Given the description of an element on the screen output the (x, y) to click on. 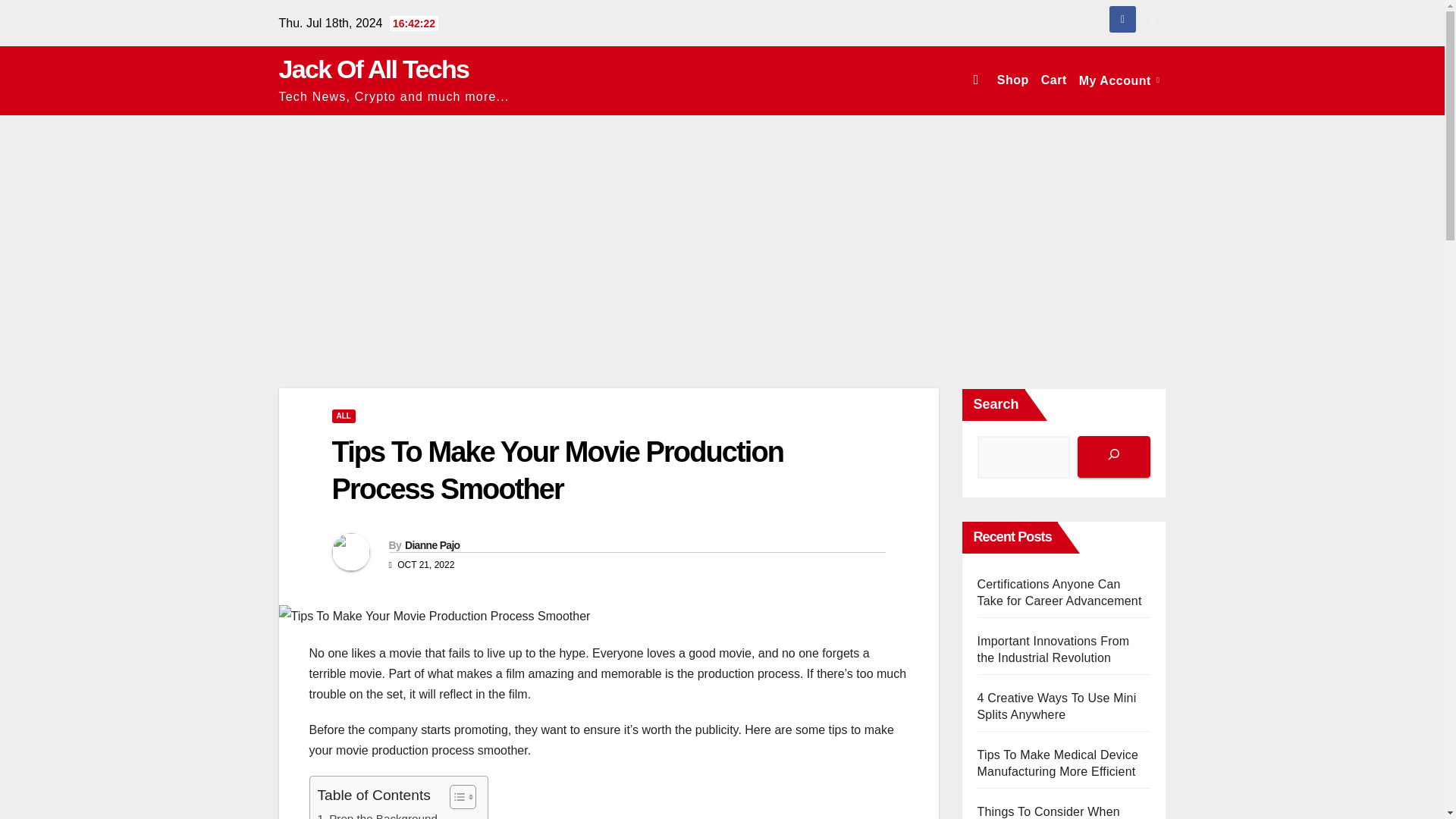
Dianne Pajo (432, 544)
My Account (1119, 80)
Shop (1013, 79)
Prep the Background (376, 814)
Tips To Make Your Movie Production Process Smoother (557, 470)
Cart (1054, 79)
Tips To Make Your Movie Production Process Smoother (435, 616)
Cart (1054, 79)
Shop (1013, 79)
ALL (343, 416)
Jack Of All Techs (373, 68)
My account (1119, 80)
Prep the Background (376, 814)
